Given the description of an element on the screen output the (x, y) to click on. 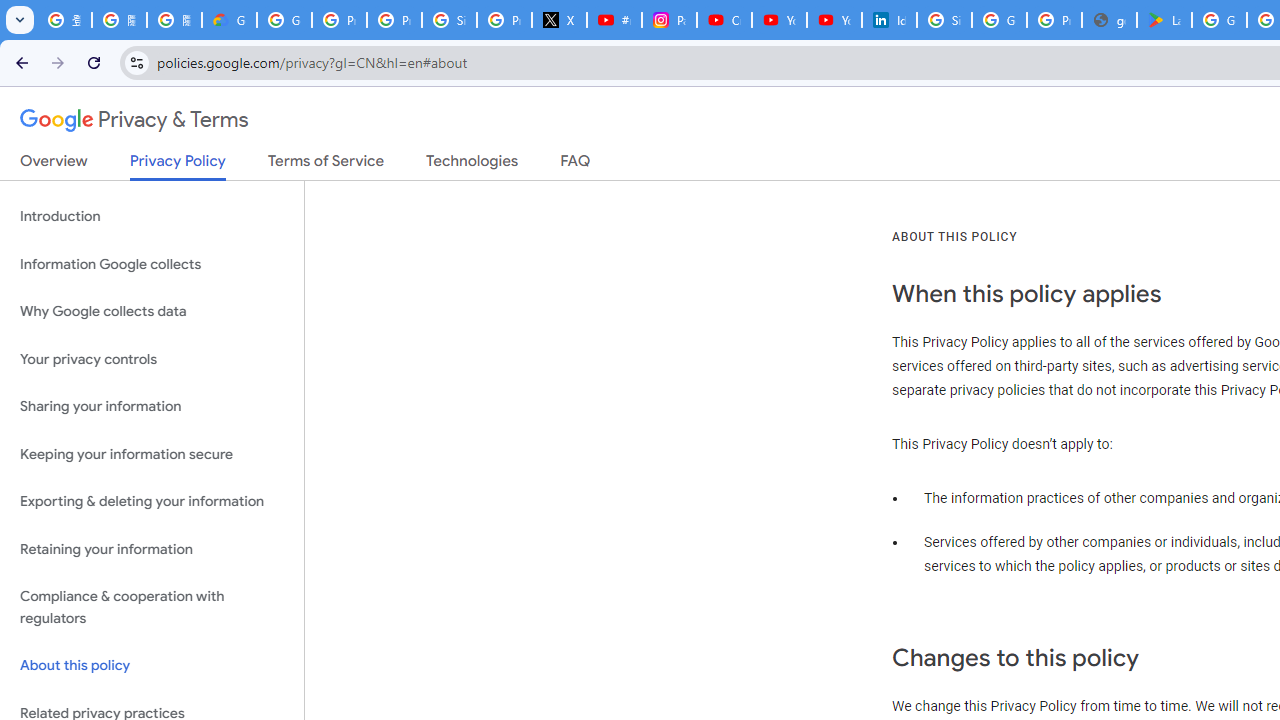
Compliance & cooperation with regulators (152, 607)
Why Google collects data (152, 312)
Your privacy controls (152, 358)
Privacy Help Center - Policies Help (394, 20)
google_privacy_policy_en.pdf (1108, 20)
About this policy (152, 666)
Last Shelter: Survival - Apps on Google Play (1163, 20)
